Given the description of an element on the screen output the (x, y) to click on. 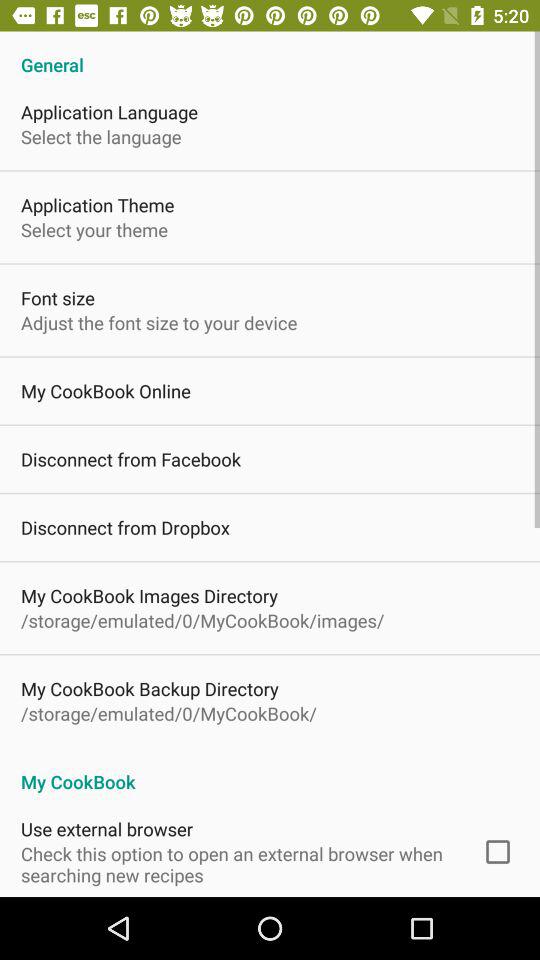
tap the icon below the my cookbook (497, 852)
